Given the description of an element on the screen output the (x, y) to click on. 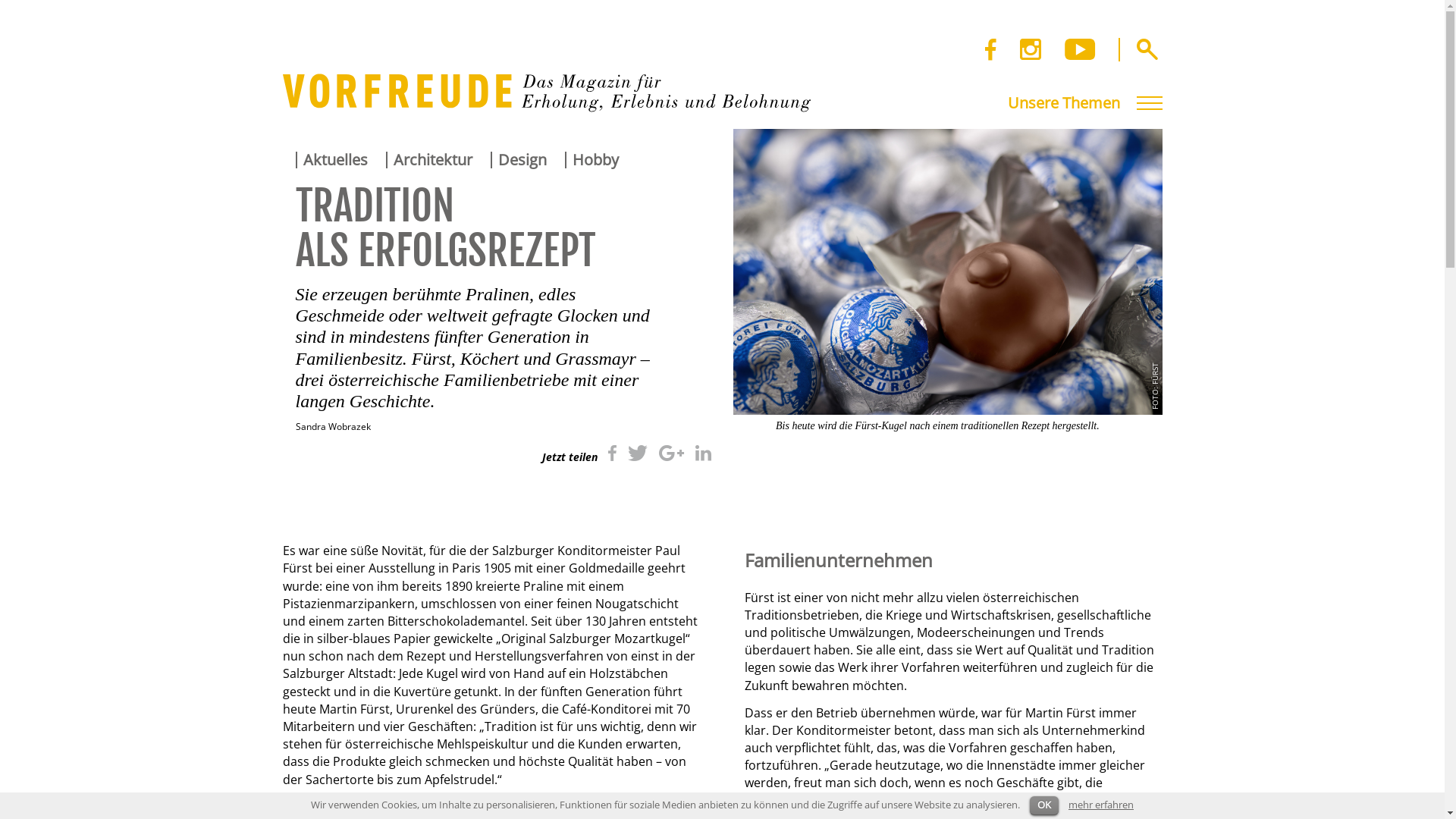
mehr erfahren Element type: text (1100, 804)
OK Element type: text (1043, 805)
Hobby Element type: text (598, 159)
Unsere Themen Element type: text (1084, 102)
Aktuelles Element type: text (338, 159)
Design Element type: text (525, 159)
Architektur Element type: text (435, 159)
Suchen Element type: text (1146, 48)
